Given the description of an element on the screen output the (x, y) to click on. 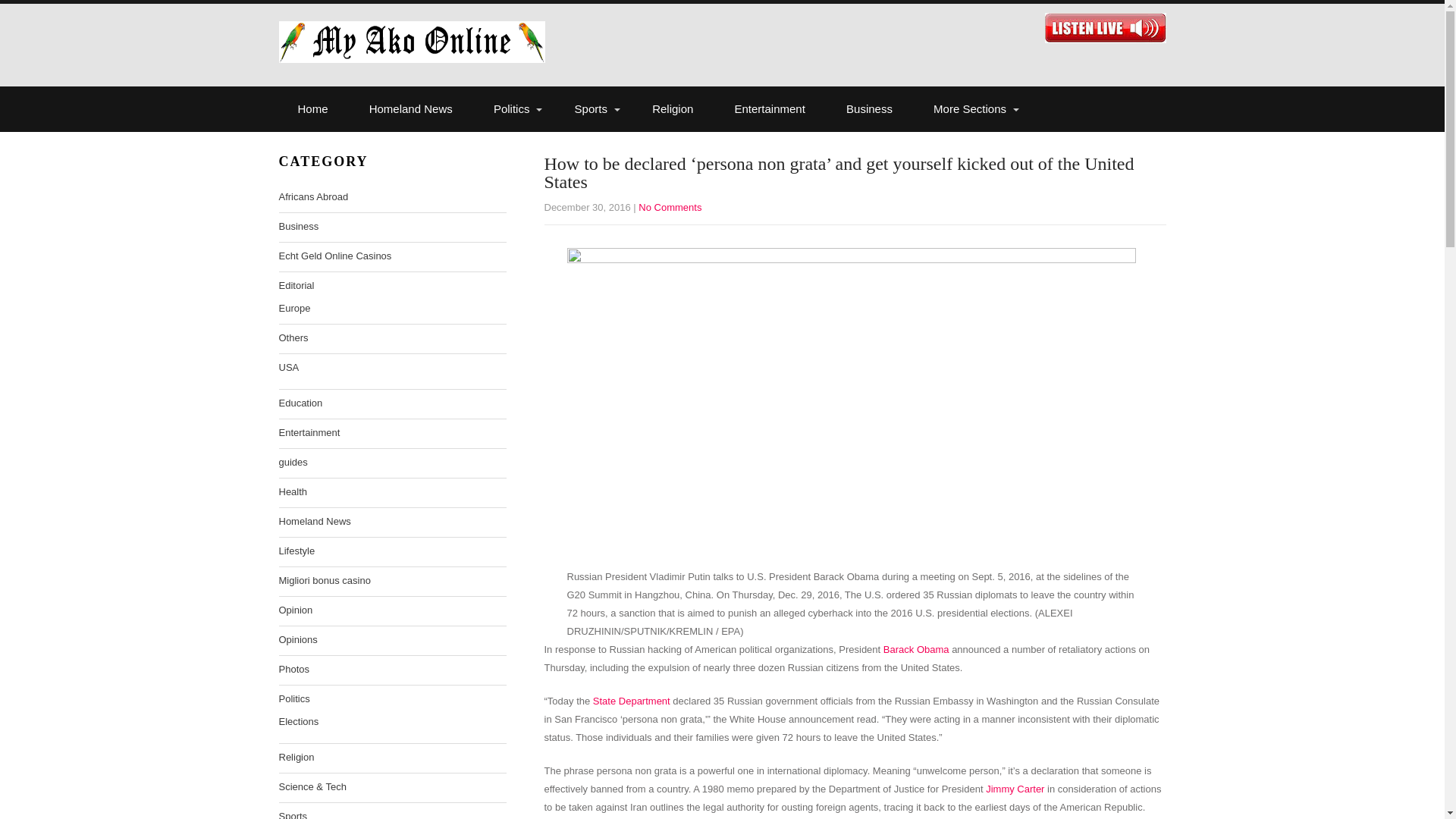
More Sections (971, 108)
State Department (630, 700)
U.S. Department of State (630, 700)
No Comments (670, 206)
Homeland News (410, 108)
Sports (593, 108)
Jimmy Carter (1014, 788)
Jimmy Carter (1014, 788)
Barack Obama (916, 649)
Barack Obama (916, 649)
Home (313, 108)
Business (869, 108)
Politics (513, 108)
Religion (672, 108)
Entertainment (770, 108)
